Given the description of an element on the screen output the (x, y) to click on. 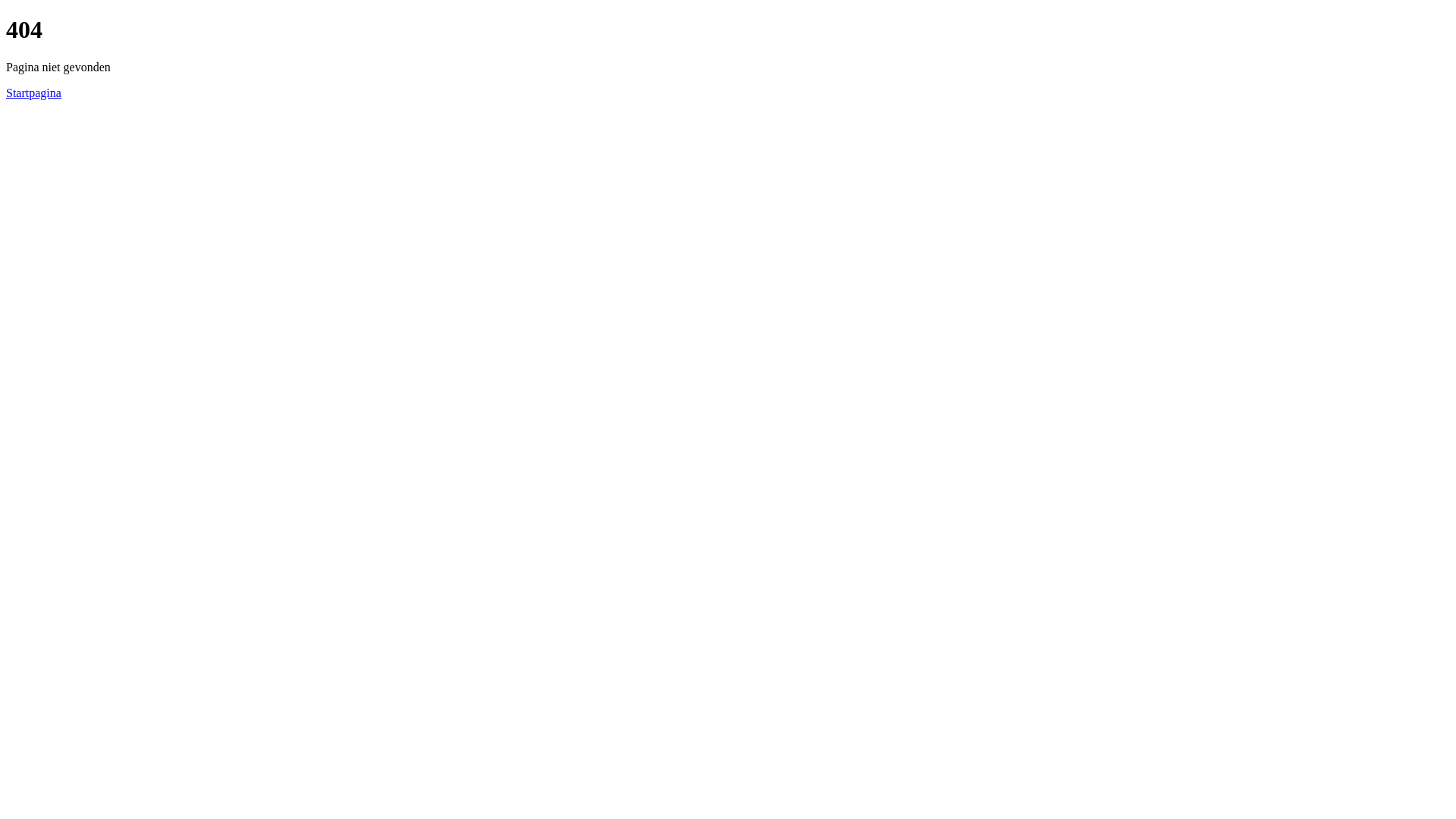
Startpagina Element type: text (33, 92)
